Given the description of an element on the screen output the (x, y) to click on. 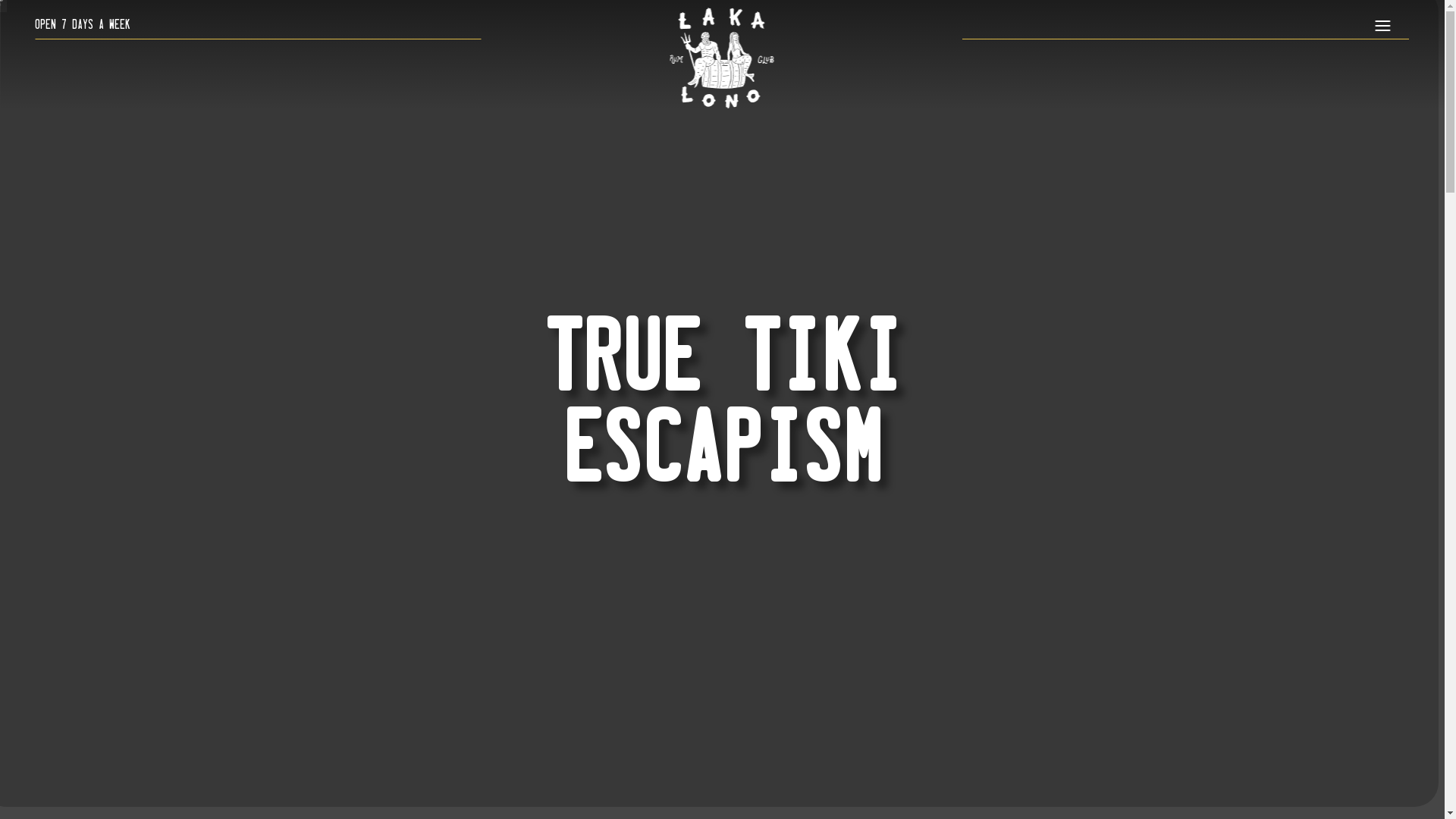
lakalono_logo_white_resized Element type: hover (722, 57)
